Given the description of an element on the screen output the (x, y) to click on. 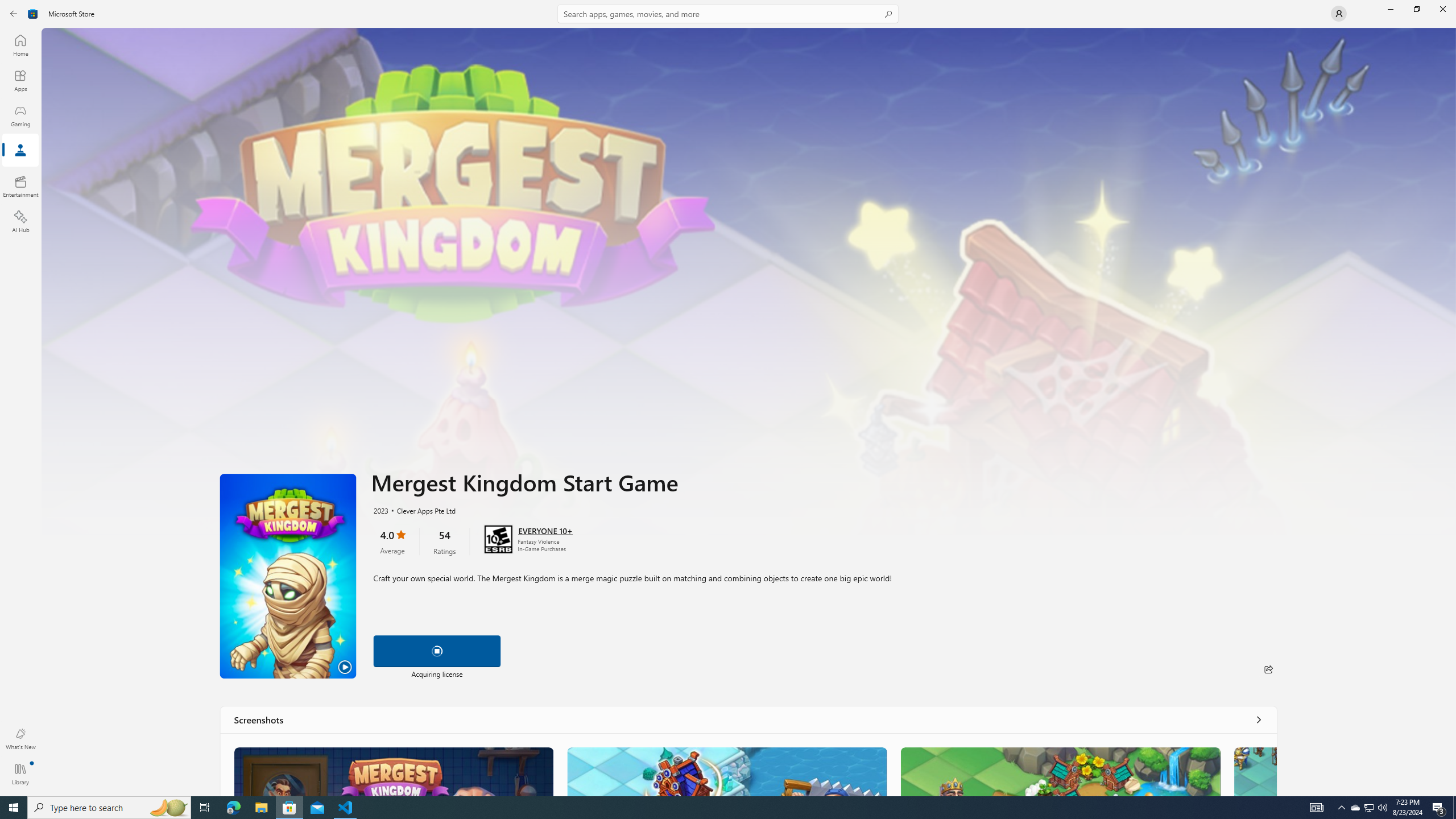
Clever Apps Pte Ltd (420, 510)
Share (1267, 669)
Screenshot 2 (726, 771)
Search (727, 13)
Back (13, 13)
Screenshot 3 (1059, 771)
Screenshot 4 (1254, 771)
